Given the description of an element on the screen output the (x, y) to click on. 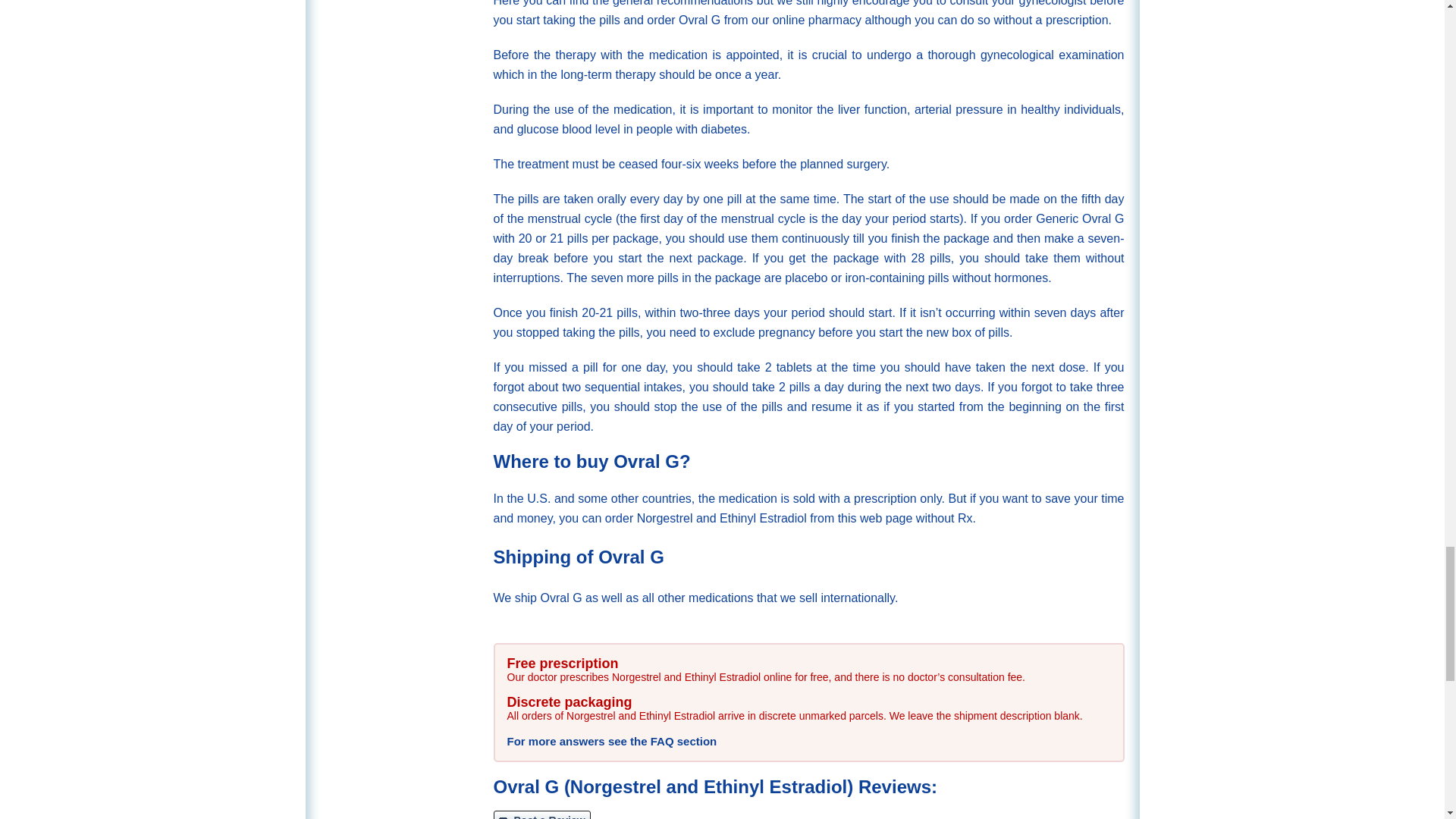
Reviews about Norgestrel and Ethinyl Estradiol  (541, 814)
